Given the description of an element on the screen output the (x, y) to click on. 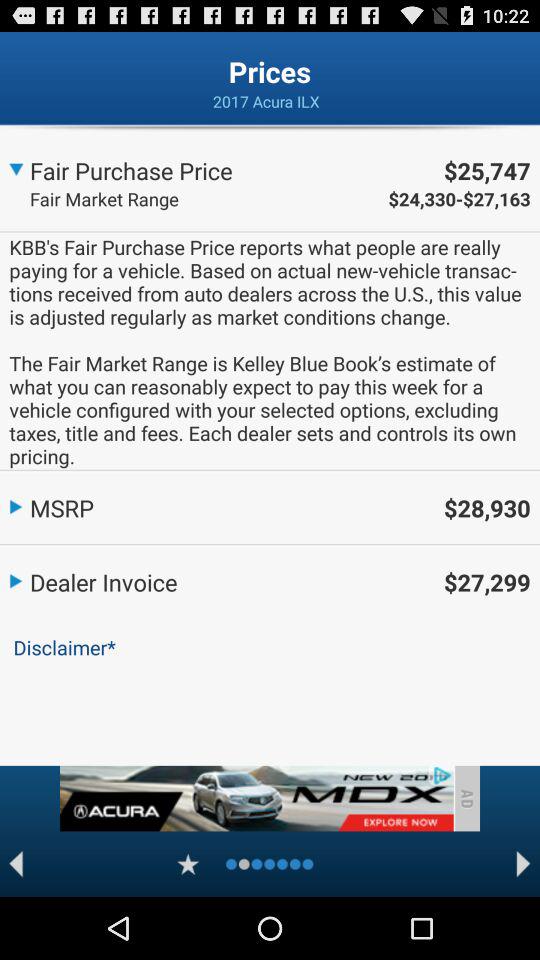
open advertisement (256, 798)
